Given the description of an element on the screen output the (x, y) to click on. 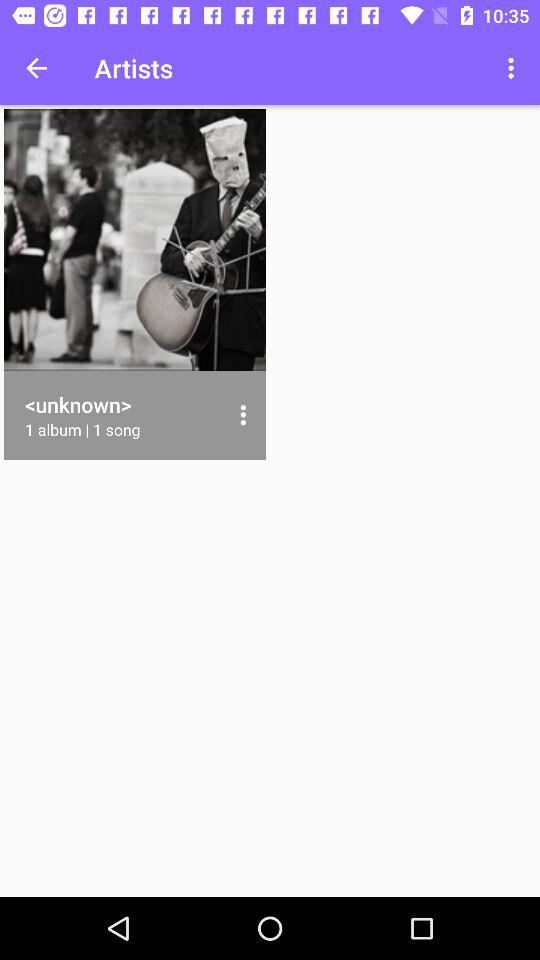
open the item at the center (242, 415)
